Given the description of an element on the screen output the (x, y) to click on. 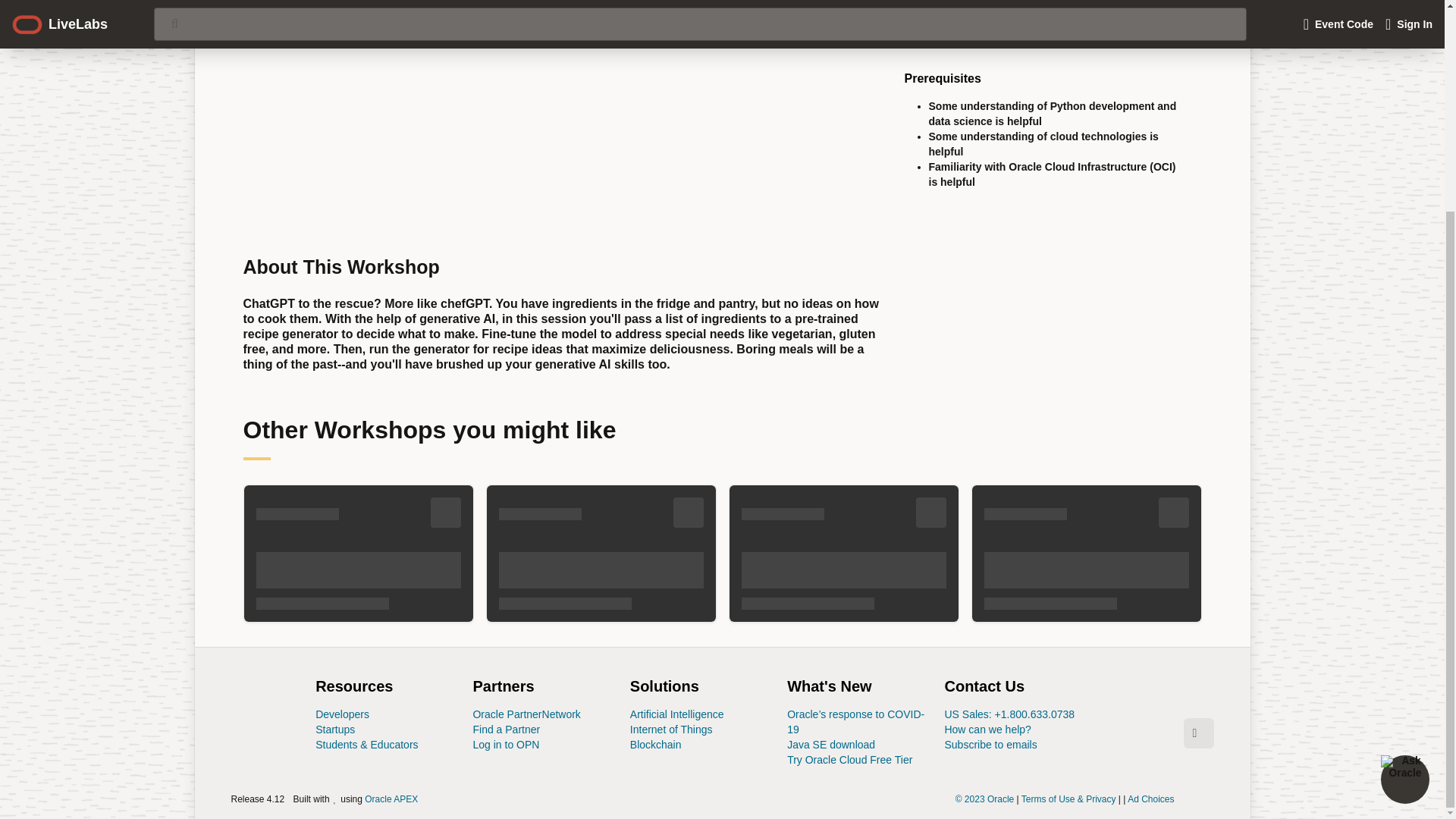
Ask Oracle (1404, 504)
Log in to OPN (504, 744)
Oracle PartnerNetwork (525, 714)
Artificial Intelligence (544, 706)
Internet of Things (676, 714)
Blockchain (671, 729)
Startups (655, 744)
Oracle APEX (335, 729)
Java SE download (391, 798)
Ad Choices (831, 744)
Find a Partner (1149, 798)
How can we help? (505, 729)
